Given the description of an element on the screen output the (x, y) to click on. 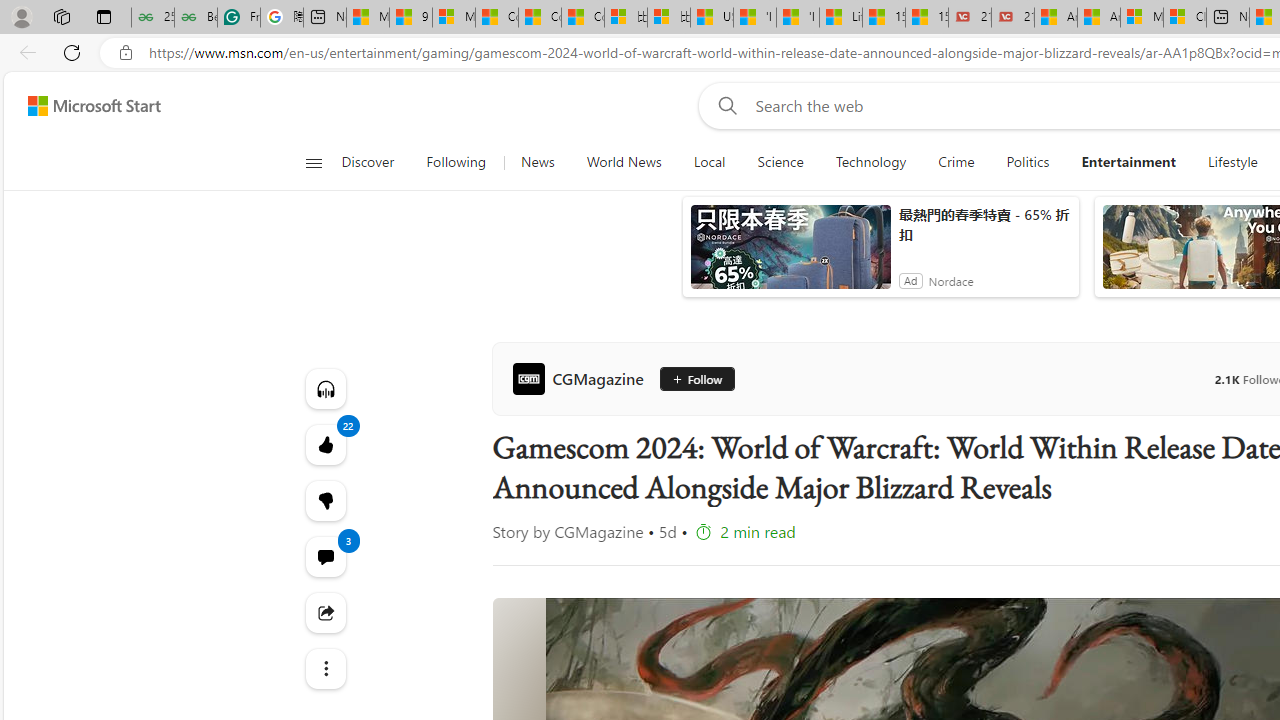
Class: at-item (324, 668)
15 Ways Modern Life Contradicts the Teachings of Jesus (927, 17)
Follow (696, 378)
USA TODAY - MSN (712, 17)
21 Movies That Outdid the Books They Were Based On (1013, 17)
